Given the description of an element on the screen output the (x, y) to click on. 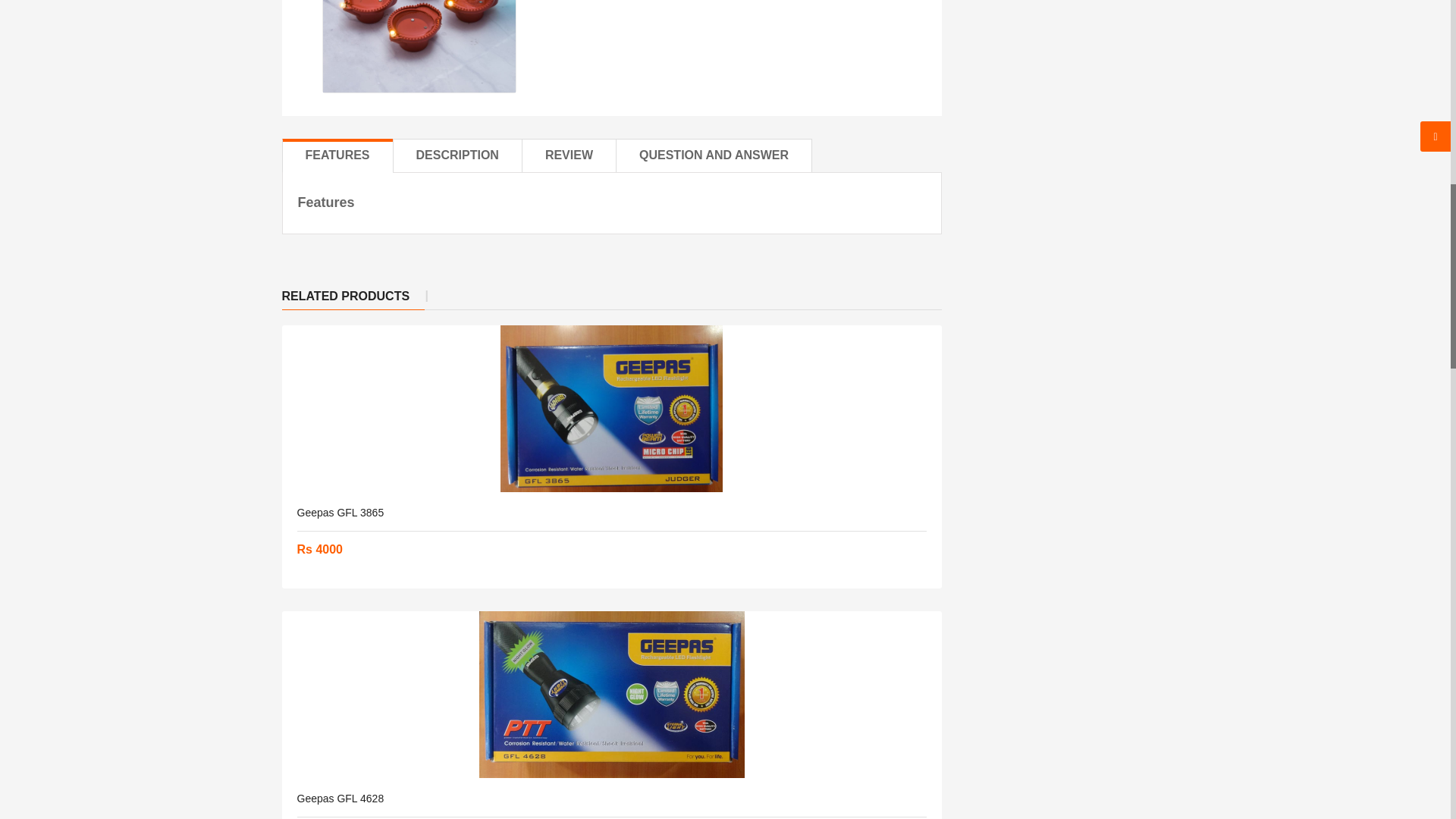
FEATURES (337, 154)
Water Sensor Led Diya (418, 46)
Geepas GFL 4628 (340, 798)
DESCRIPTION (457, 154)
QUESTION AND ANSWER (713, 154)
Water Sensor Led Diya (419, 46)
RELATED PRODUCTS (353, 296)
Geepas GFL 3865 (340, 512)
Geepas GFL 3865 (611, 408)
Geepas GFL 4628 (611, 694)
